Given the description of an element on the screen output the (x, y) to click on. 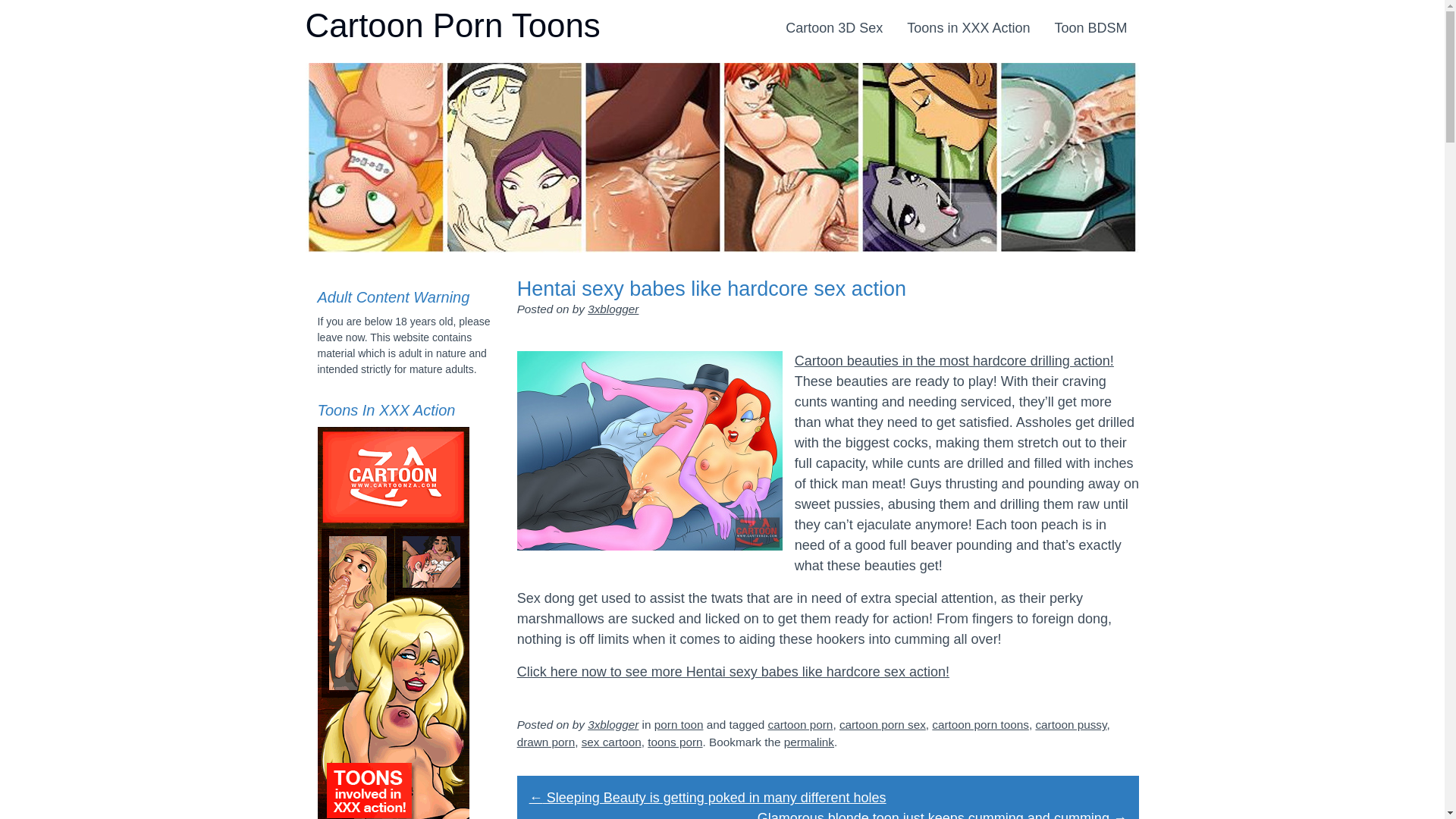
Cartoon beauties in the most hardcore drilling action! Element type: text (953, 360)
Skip to content Element type: text (818, 16)
Cartoon Porn Toons Element type: text (451, 24)
cartoon pussy Element type: text (1070, 724)
3xblogger Element type: text (612, 724)
cartoon porn Element type: text (799, 724)
permalink Element type: text (809, 741)
3xblogger Element type: text (612, 308)
cartoon porn sex Element type: text (882, 724)
Toon BDSM Element type: text (1090, 28)
sex cartoon Element type: text (611, 741)
porn toon Element type: text (678, 724)
Cartoon 3D Sex Element type: text (833, 28)
toons porn Element type: text (674, 741)
Toons in XXX Action Element type: text (967, 28)
cartoon porn toons Element type: text (980, 724)
drawn porn Element type: text (546, 741)
